Given the description of an element on the screen output the (x, y) to click on. 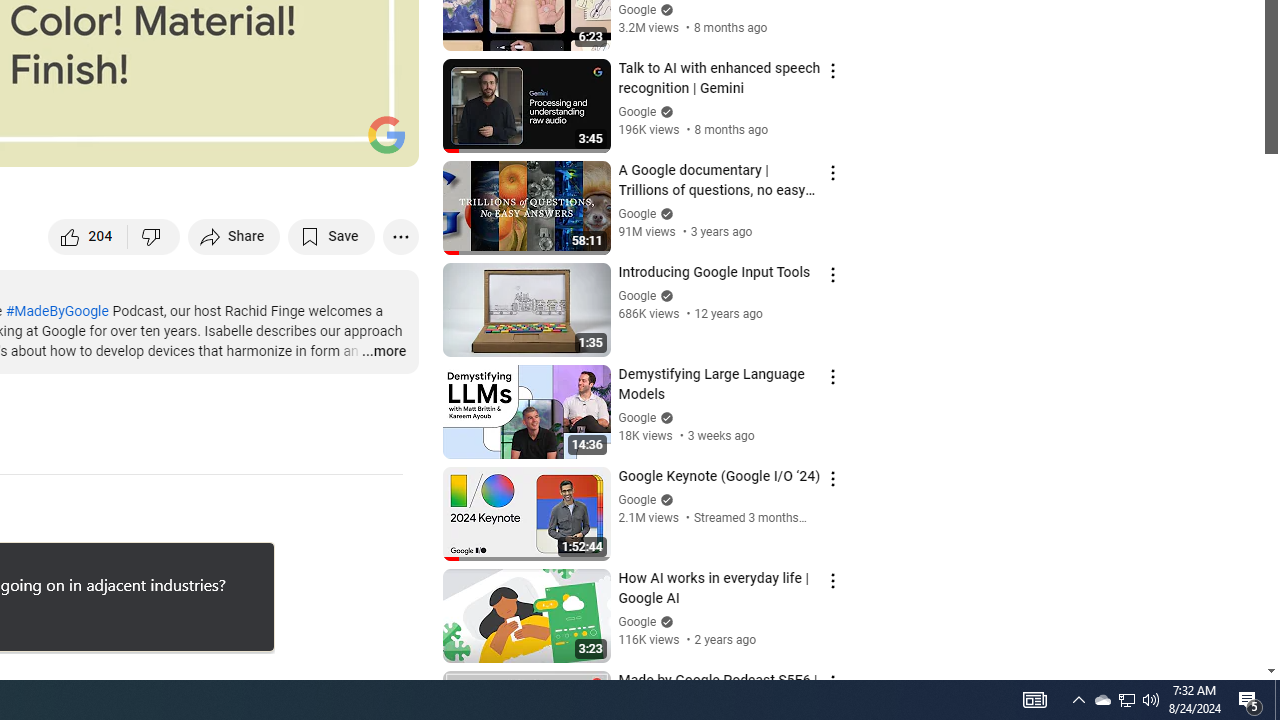
More actions (399, 236)
like this video along with 204 other people (88, 236)
Full screen (f) (382, 142)
#MadeByGoogle (56, 311)
Channel watermark (386, 134)
Subtitles/closed captions unavailable (190, 142)
Share (234, 236)
Save to playlist (331, 236)
Action menu (832, 682)
Dislike this video (154, 236)
Autoplay is on (141, 142)
